Given the description of an element on the screen output the (x, y) to click on. 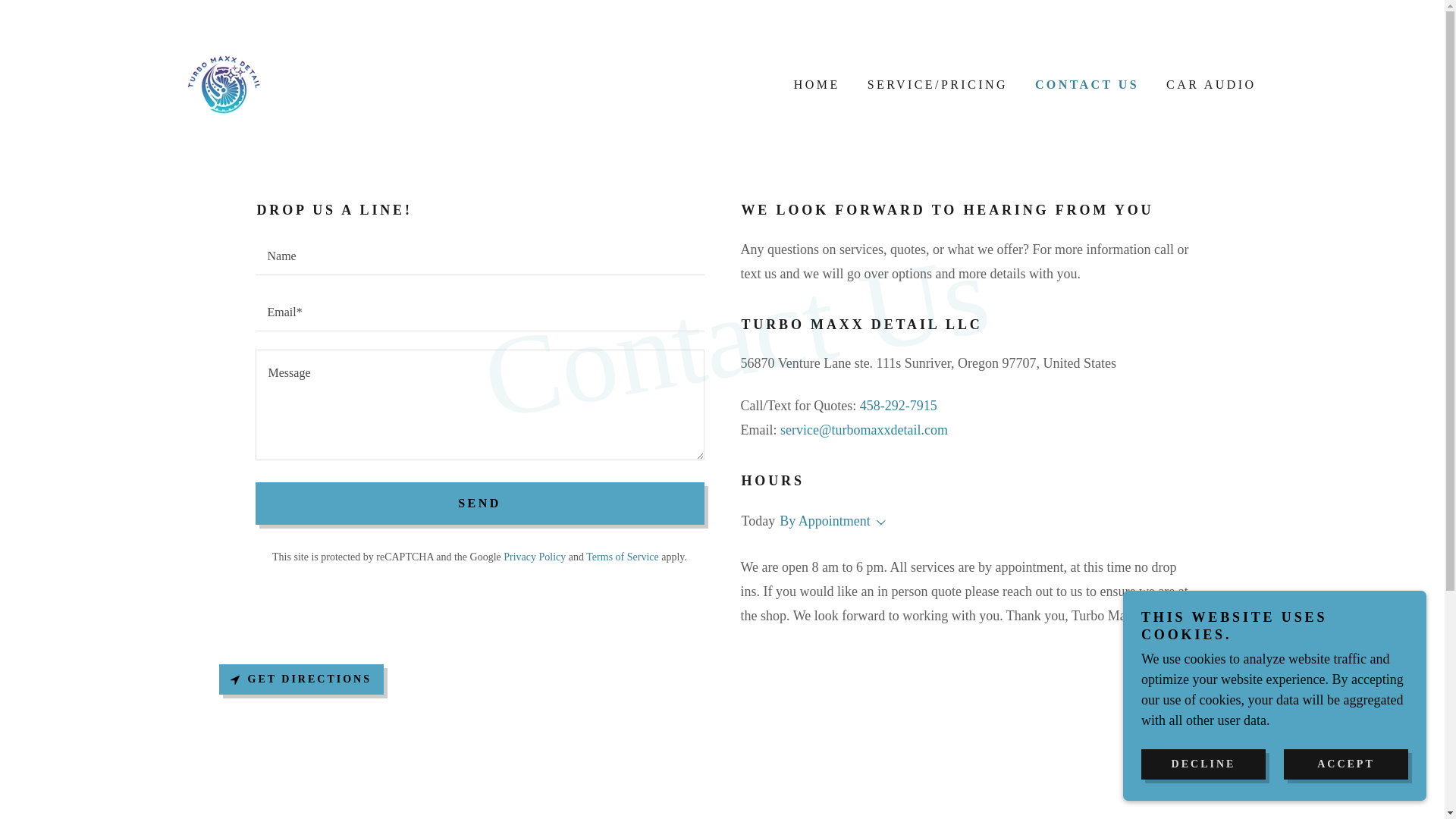
ACCEPT (1345, 764)
DECLINE (1203, 764)
Terms of Service (622, 555)
Turbo Maxx Detail LLC (223, 83)
GET DIRECTIONS (300, 679)
HOME (815, 84)
SEND (478, 503)
CAR AUDIO (1209, 84)
458-292-7915 (898, 405)
CONTACT US (1085, 85)
